Given the description of an element on the screen output the (x, y) to click on. 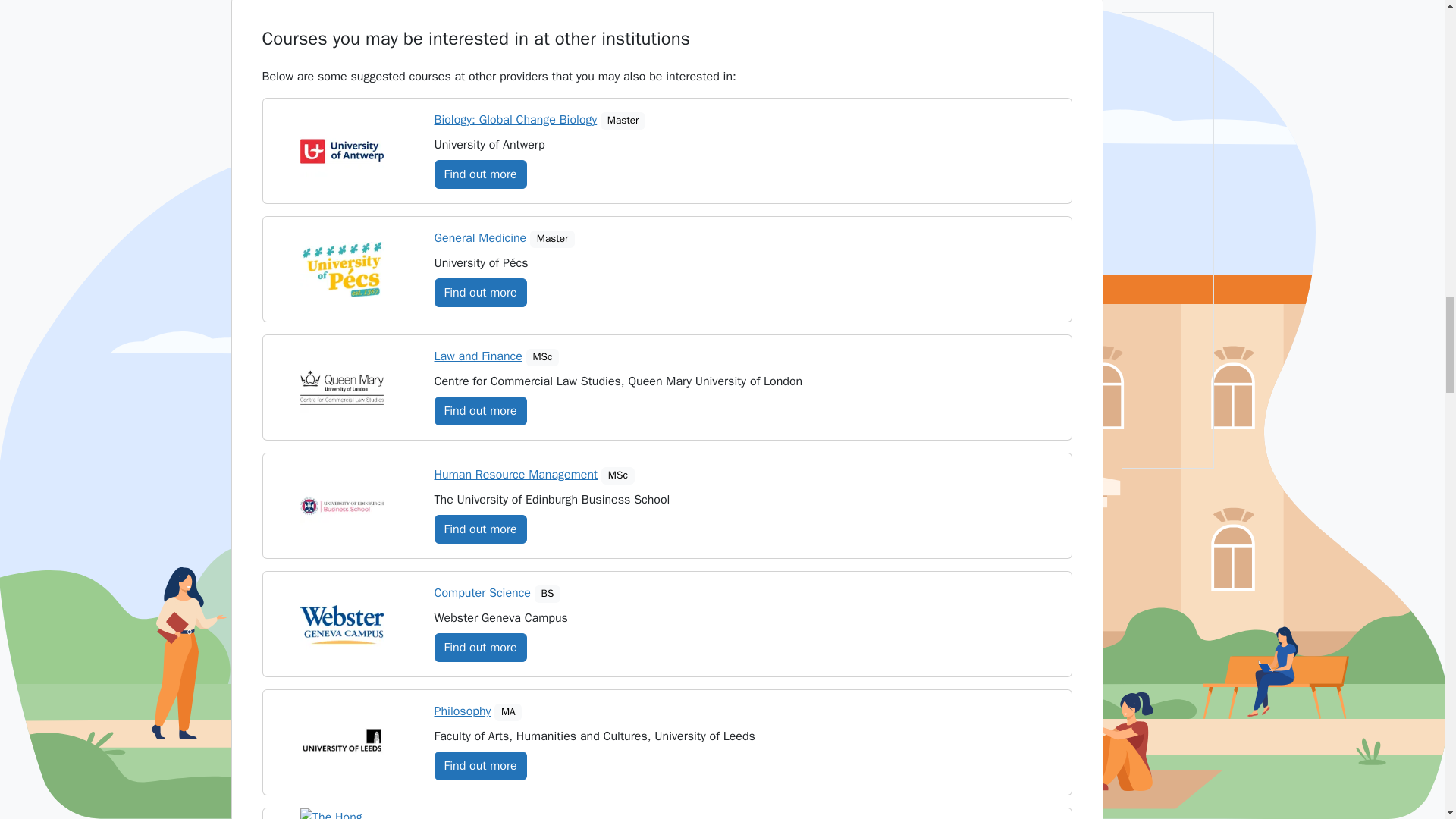
Webster Geneva Campus (341, 624)
The University of Edinburgh Business School (341, 505)
University of Antwerp (341, 151)
